Given the description of an element on the screen output the (x, y) to click on. 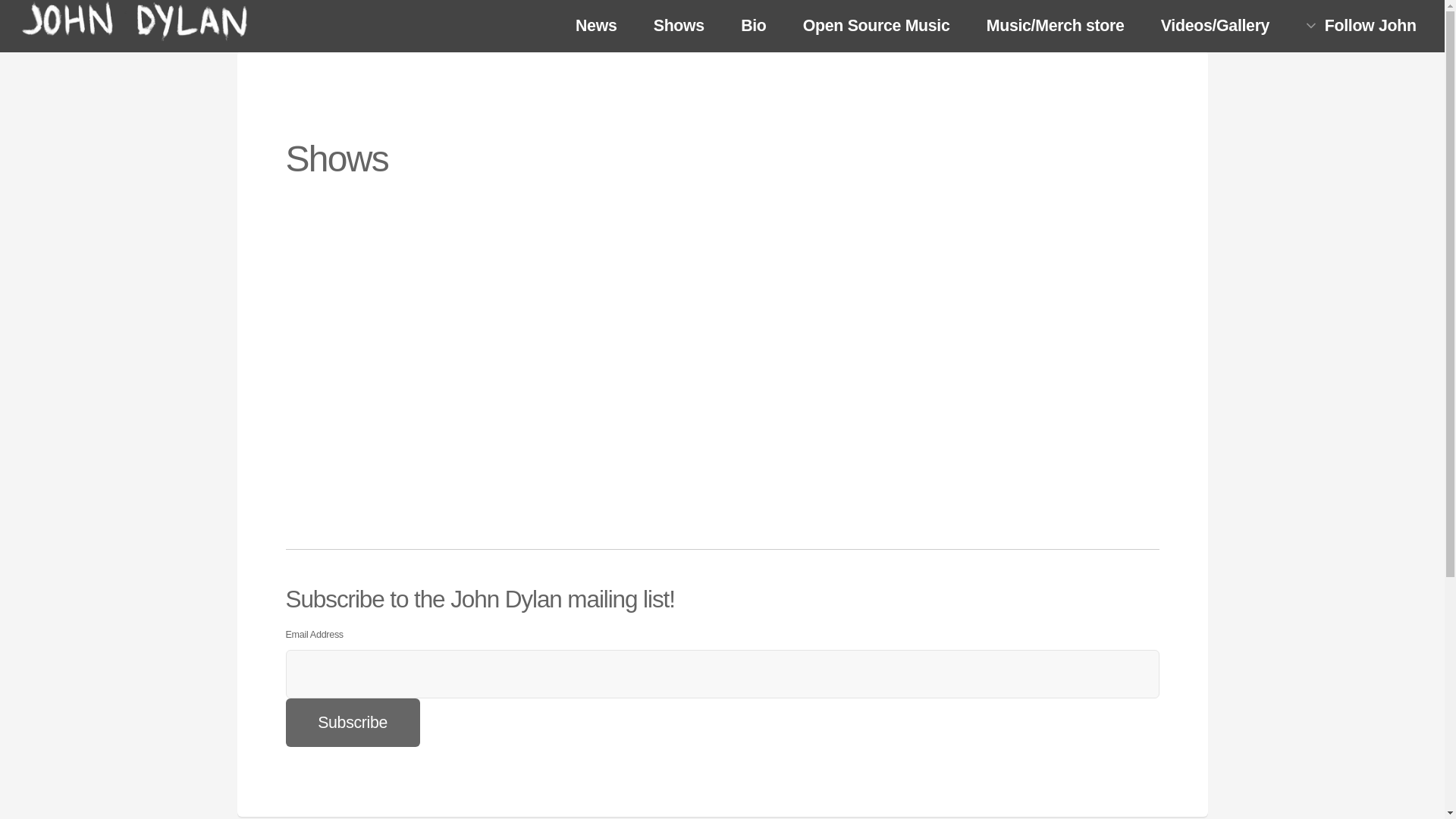
News Element type: text (596, 26)
Music/Merch store Element type: text (1054, 26)
Follow John Element type: text (1360, 25)
Shows Element type: text (678, 26)
Open Source Music Element type: text (875, 26)
Bio Element type: text (753, 26)
Videos/Gallery Element type: text (1215, 26)
Subscribe Element type: text (352, 722)
